Given the description of an element on the screen output the (x, y) to click on. 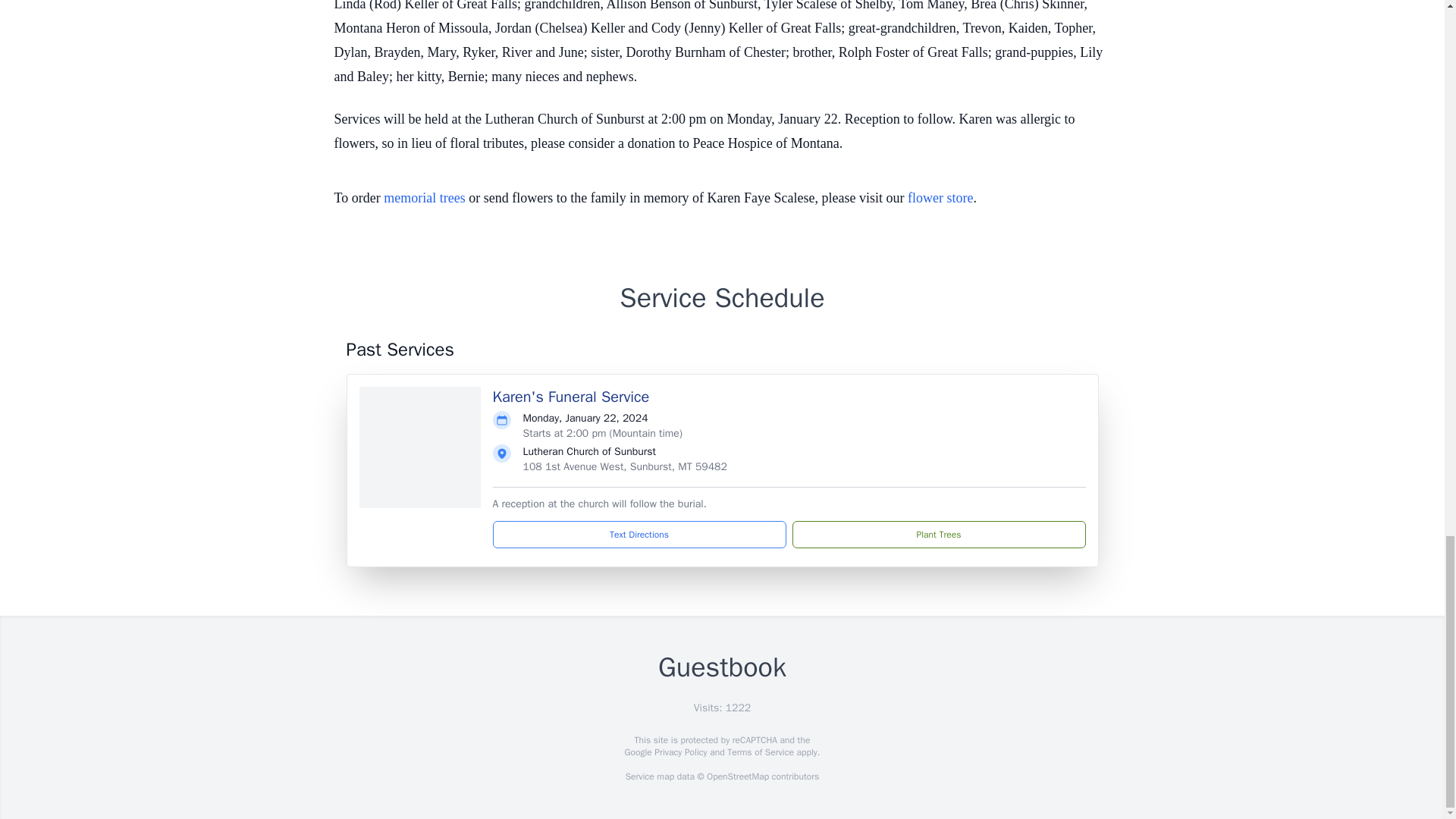
Plant Trees (938, 533)
Privacy Policy (679, 752)
Terms of Service (759, 752)
flower store (939, 197)
memorial trees (424, 197)
Text Directions (639, 533)
OpenStreetMap (737, 776)
108 1st Avenue West, Sunburst, MT 59482 (624, 466)
